Given the description of an element on the screen output the (x, y) to click on. 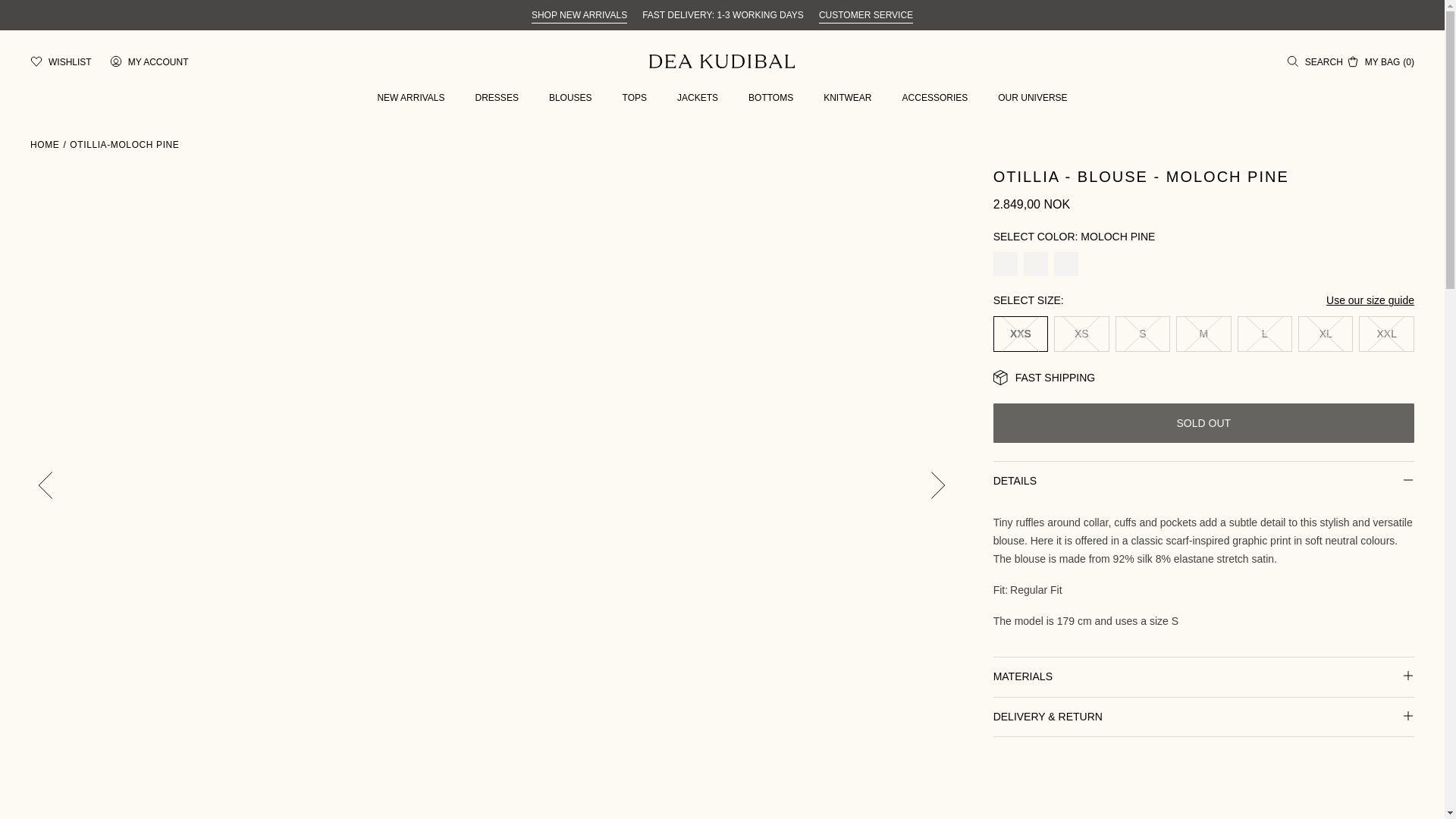
SHOP NEW ARRIVALS (579, 14)
WISHLIST (60, 61)
BOTTOMS (770, 97)
ACCESSORIES (935, 97)
MY ACCOUNT (149, 61)
Home (44, 144)
